Given the description of an element on the screen output the (x, y) to click on. 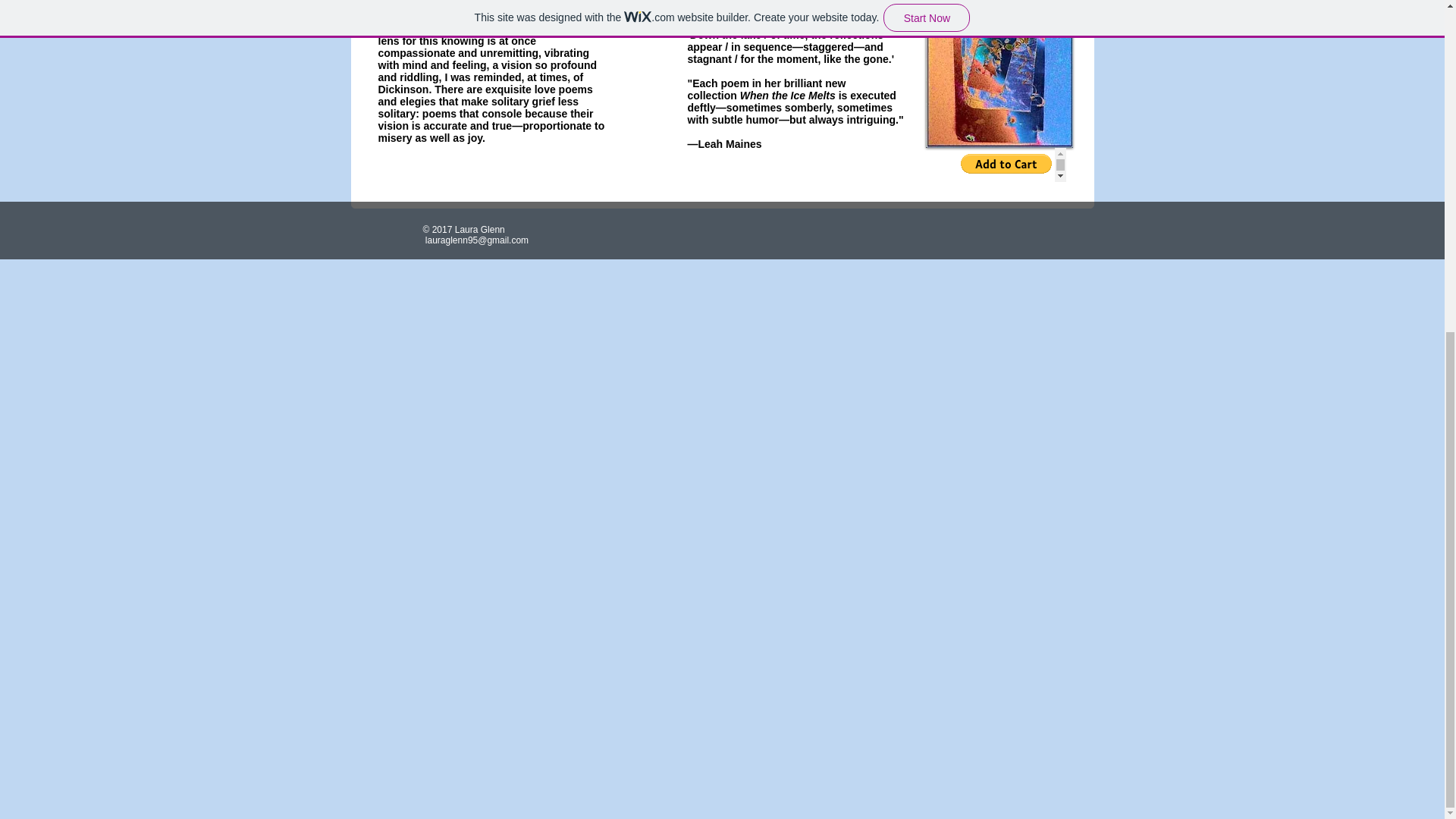
Embedded Content (1009, 163)
